Given the description of an element on the screen output the (x, y) to click on. 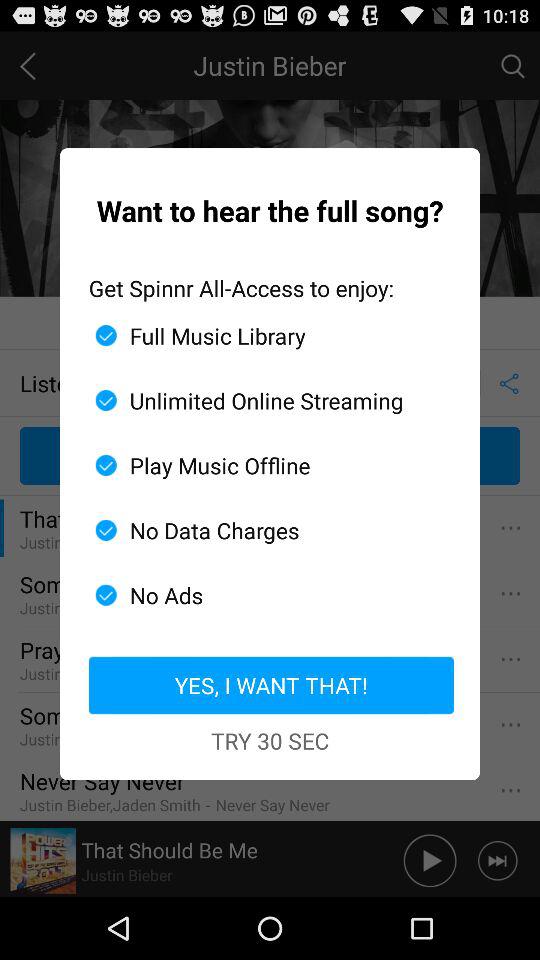
open icon above no data charges (261, 465)
